Given the description of an element on the screen output the (x, y) to click on. 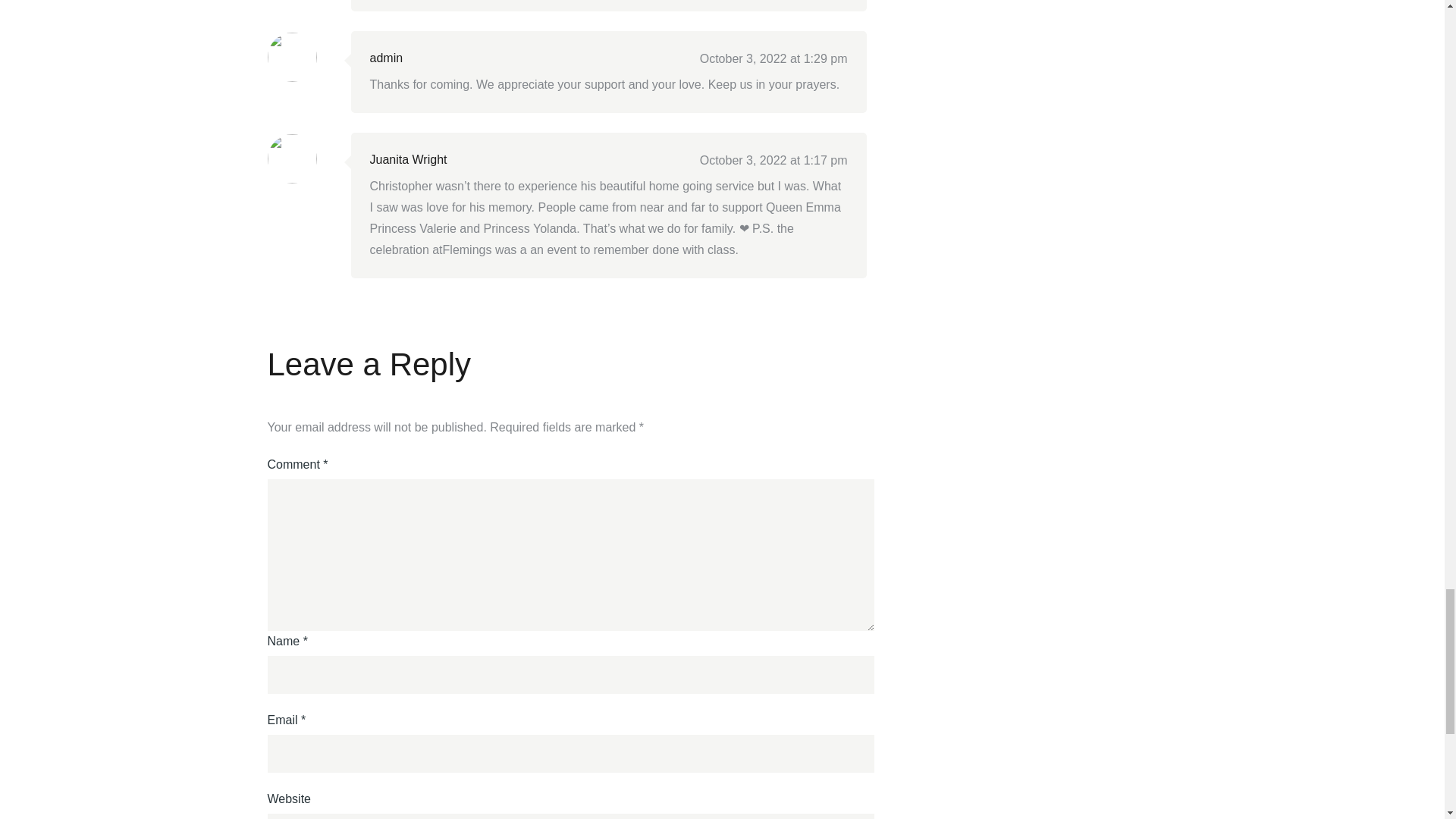
October 3, 2022 at 1:17 pm (773, 160)
October 3, 2022 at 1:29 pm (773, 58)
